Given the description of an element on the screen output the (x, y) to click on. 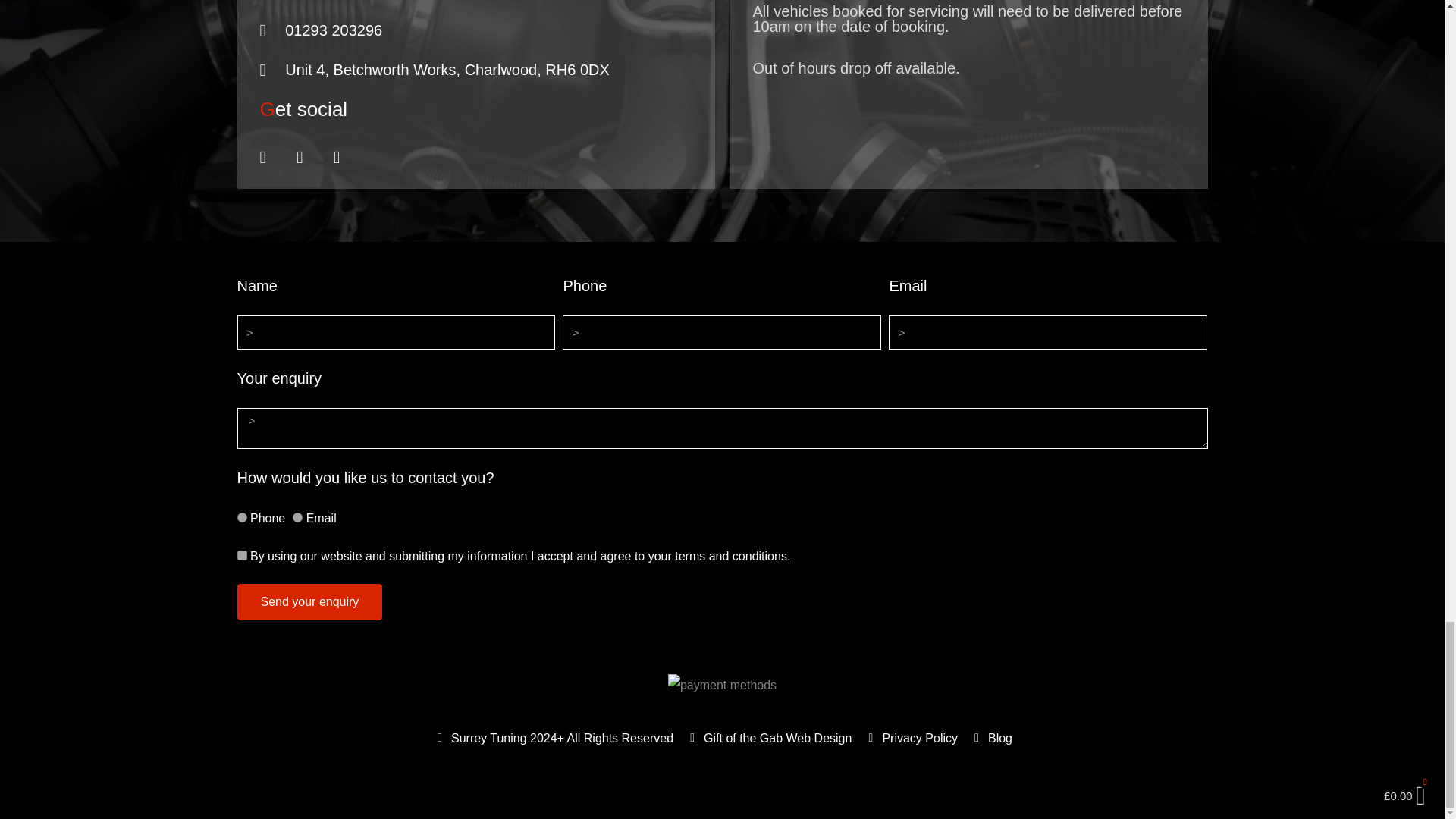
on (240, 555)
Email (297, 517)
payment methods (722, 685)
Phone (240, 517)
